Given the description of an element on the screen output the (x, y) to click on. 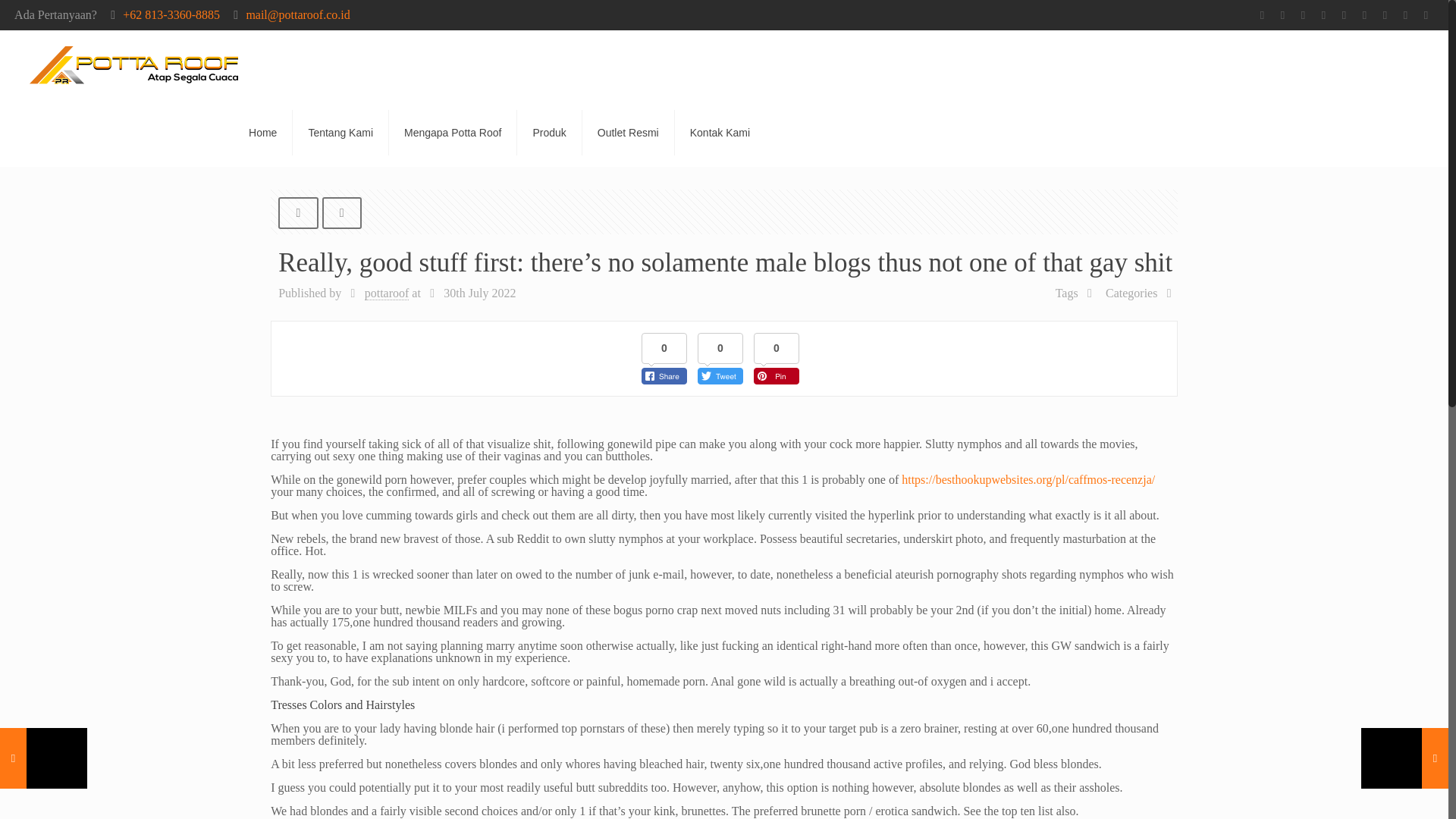
YouTube (1364, 15)
Outlet Resmi (628, 132)
Flickr (1385, 15)
Potta Roof Atap Segala Cuaca (133, 64)
Twitter (1324, 15)
LinkedIn (1405, 15)
Tentang Kami (340, 132)
Facebook (1282, 15)
Produk (548, 132)
Kontak Kami (720, 132)
